Given the description of an element on the screen output the (x, y) to click on. 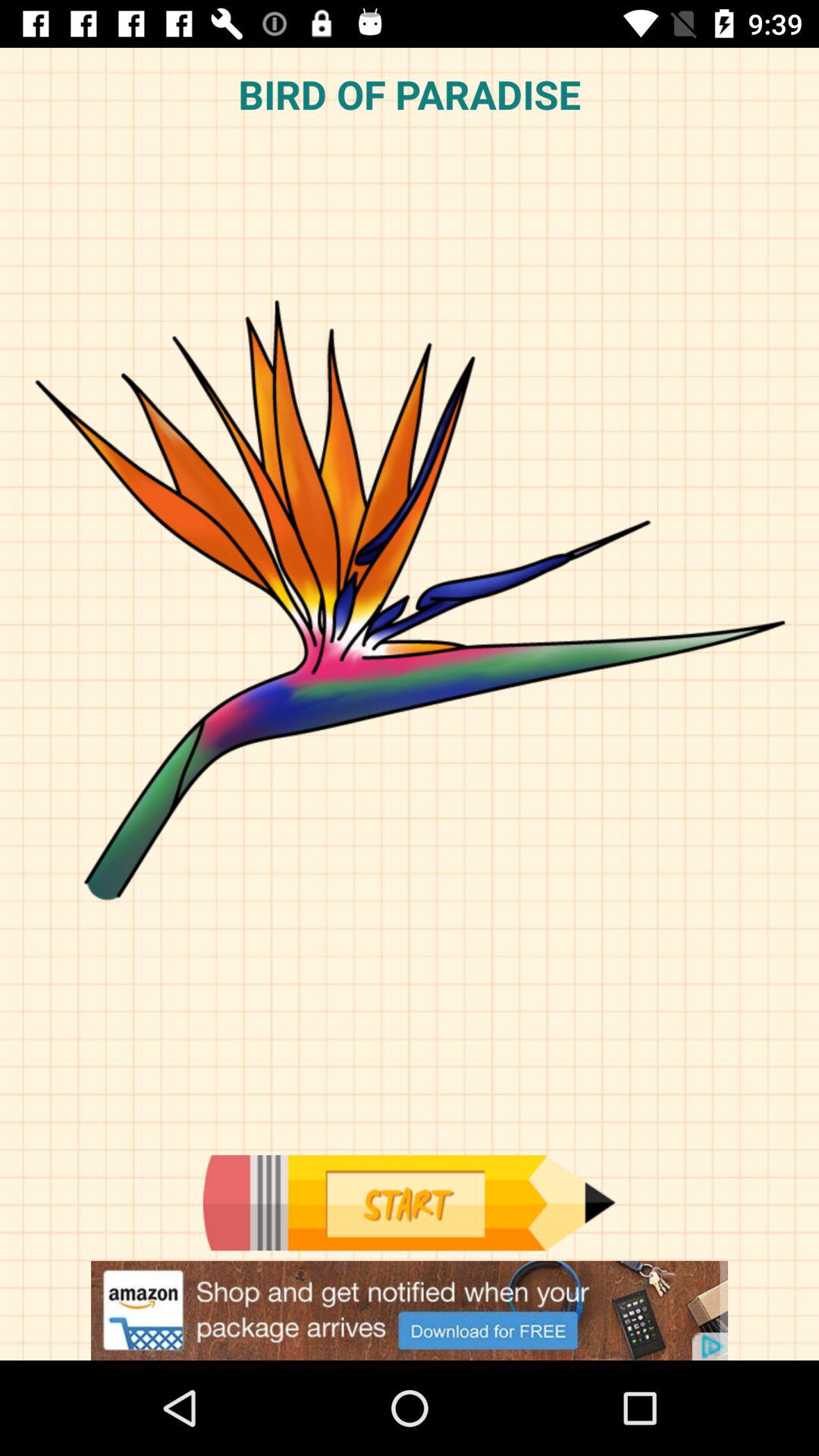
open advertisement (409, 1310)
